Given the description of an element on the screen output the (x, y) to click on. 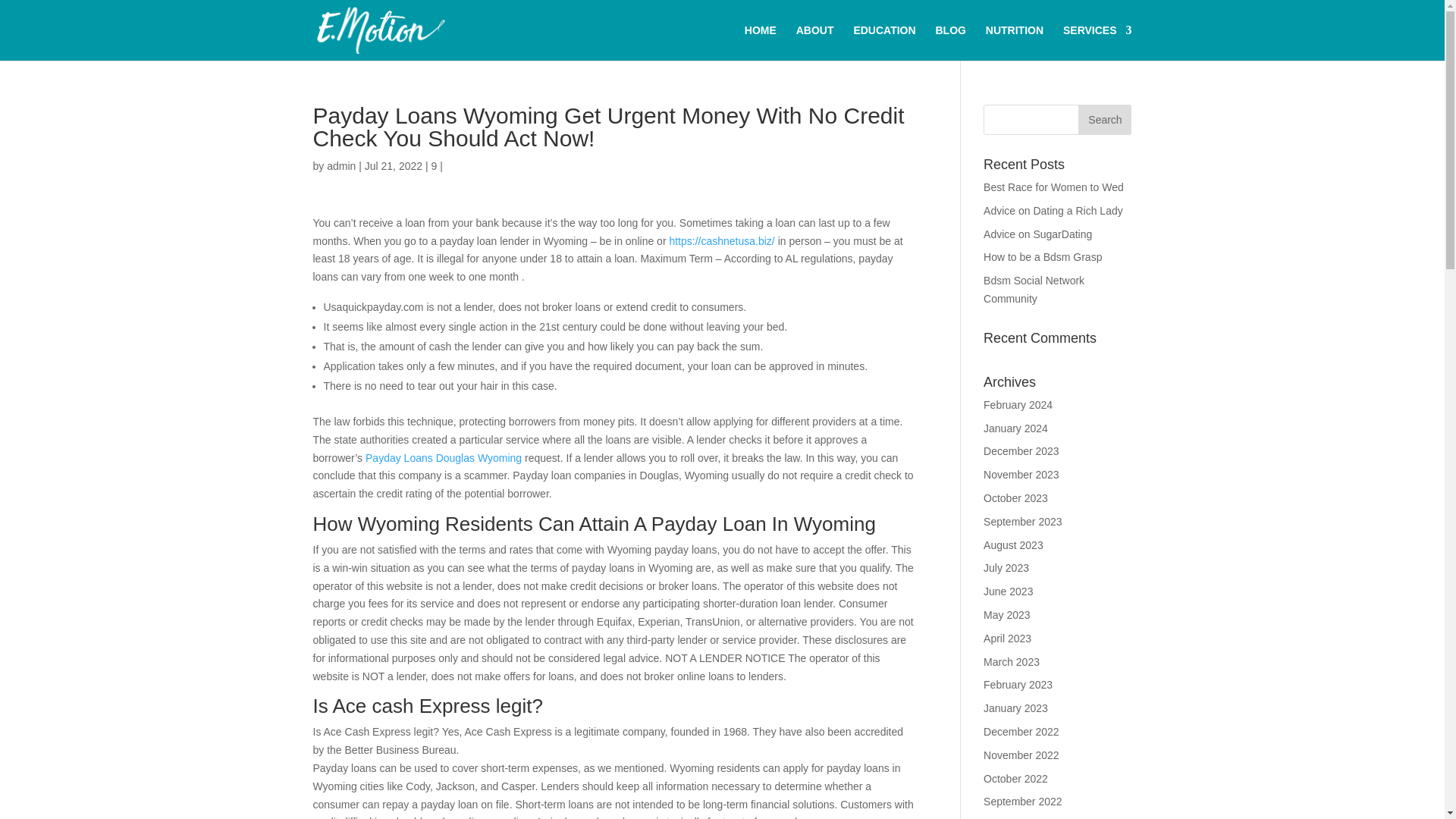
Advice on SugarDating (1038, 234)
Bdsm Social Network Community (1034, 289)
February 2024 (1018, 404)
How to be a Bdsm Grasp (1043, 256)
January 2024 (1016, 428)
ABOUT (815, 42)
Payday Loans Douglas Wyoming (443, 458)
December 2023 (1021, 451)
HOME (760, 42)
November 2023 (1021, 474)
admin (340, 165)
Advice on Dating a Rich Lady (1053, 210)
Posts by admin (340, 165)
SERVICES (1097, 42)
NUTRITION (1014, 42)
